Given the description of an element on the screen output the (x, y) to click on. 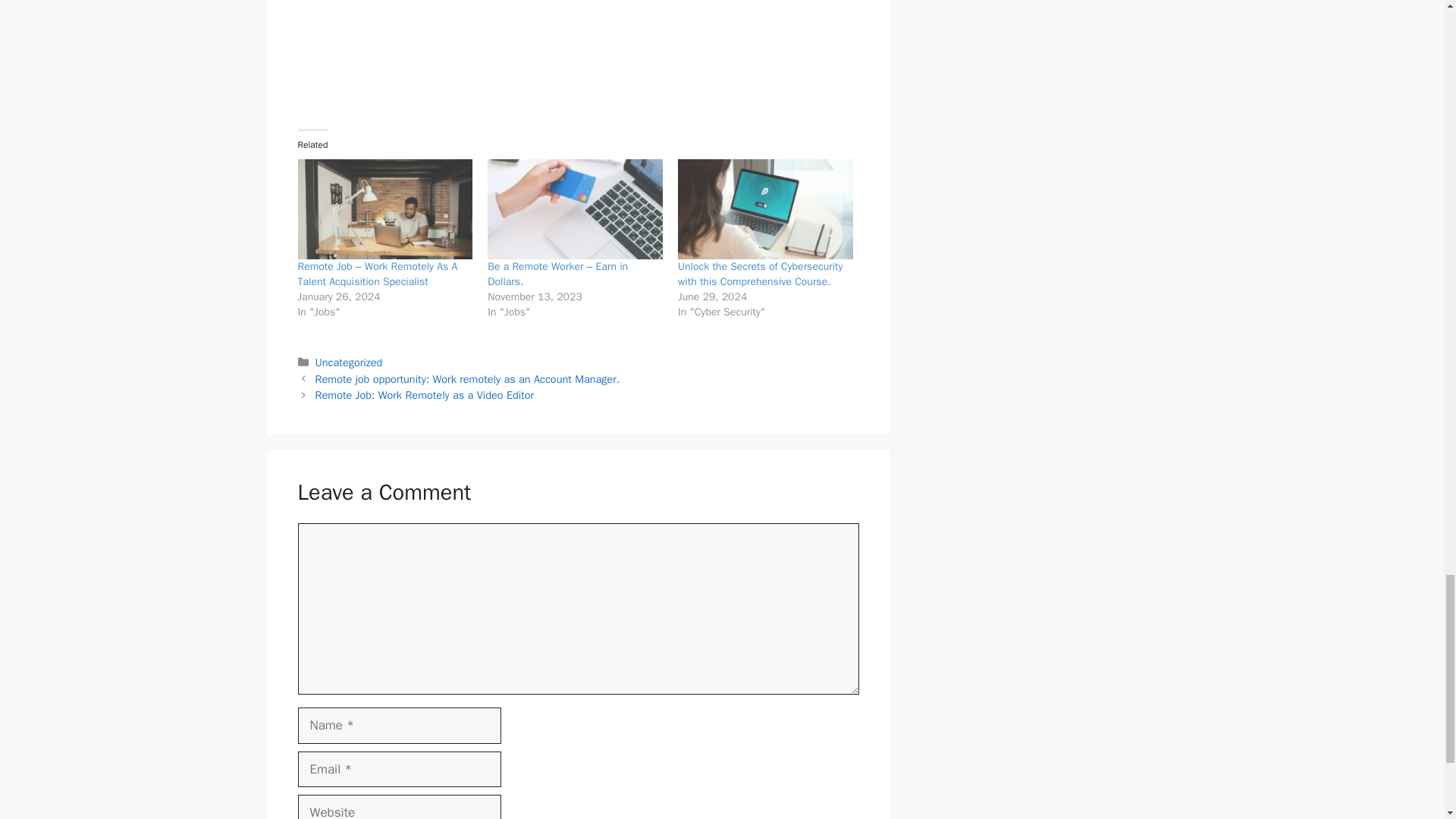
Remote job opportunity: Work remotely as an Account Manager. (467, 378)
Advertisement (578, 16)
Remote Job: Work Remotely as a Video Editor (424, 395)
Uncategorized (348, 362)
